Given the description of an element on the screen output the (x, y) to click on. 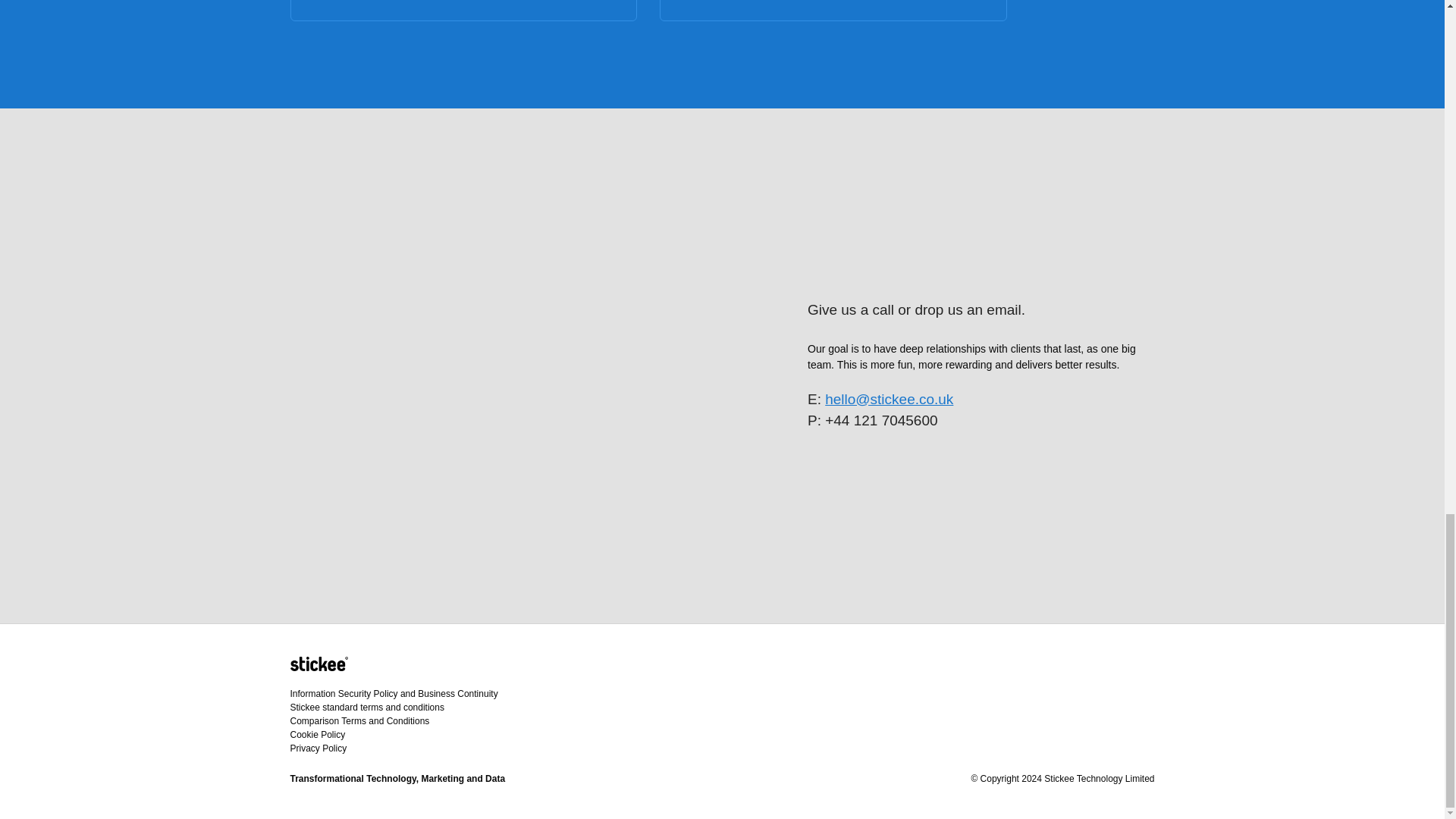
Privacy Policy (317, 747)
Stickee standard terms and conditions (366, 706)
Comparison Terms and Conditions (359, 720)
Information Security Policy and Business Continuity (393, 693)
Cookie Policy (317, 734)
